Given the description of an element on the screen output the (x, y) to click on. 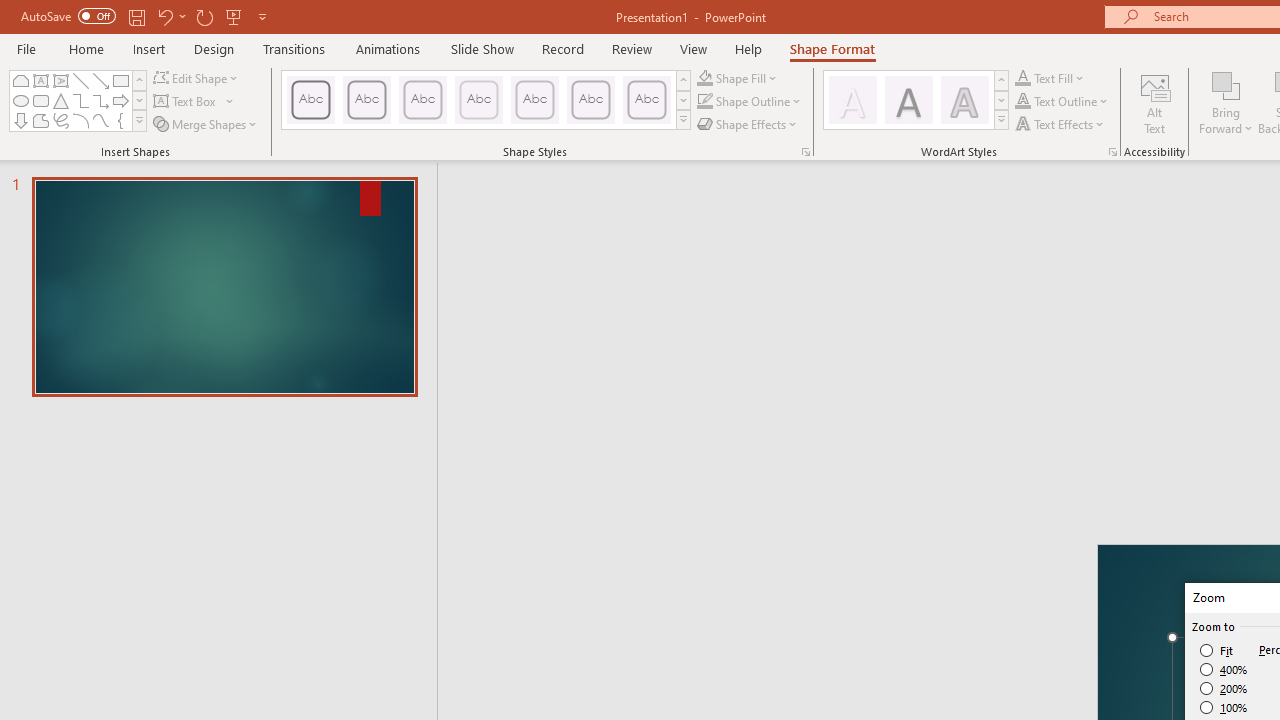
200% (1224, 688)
Shape Effects (748, 124)
